Given the description of an element on the screen output the (x, y) to click on. 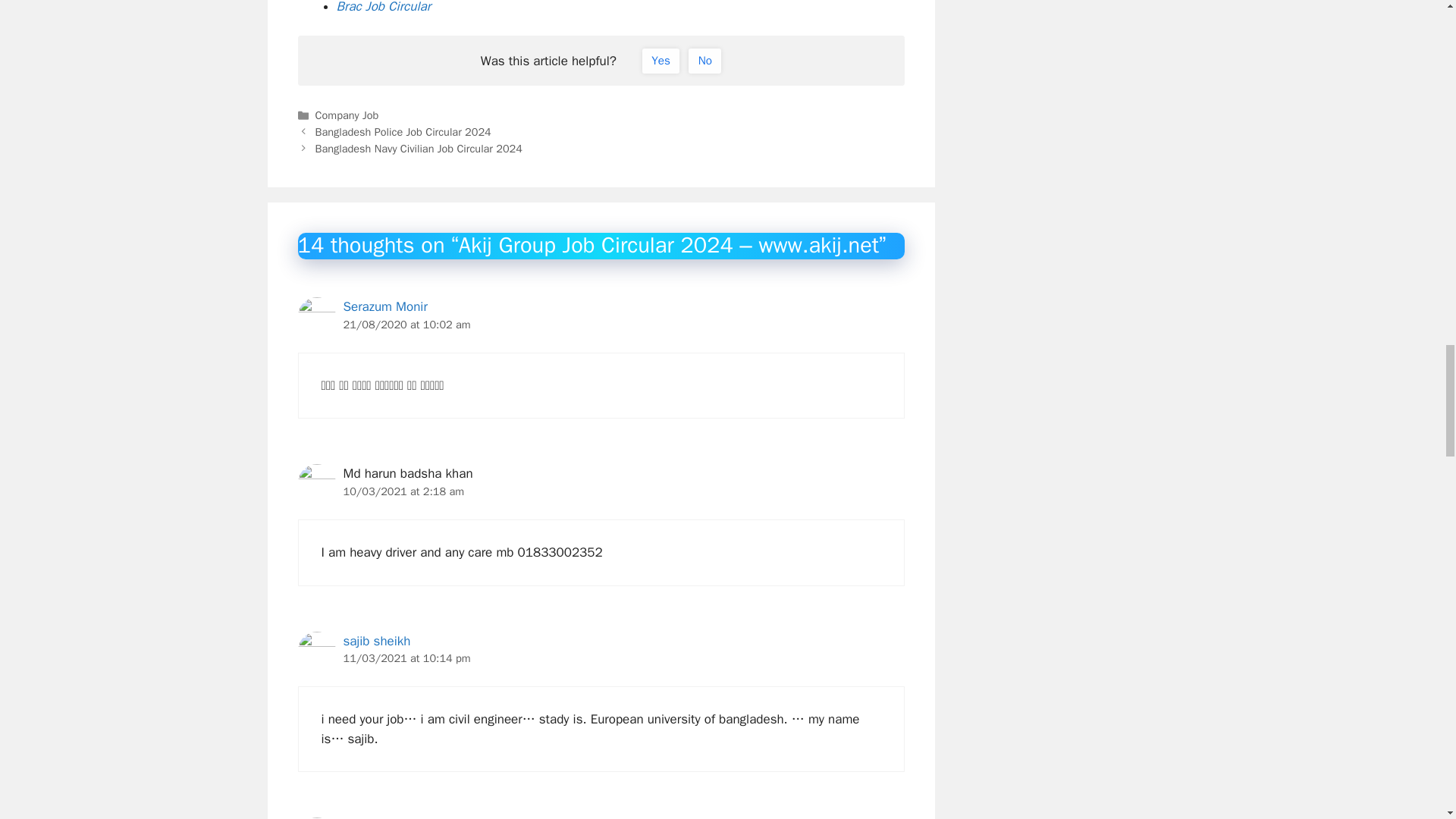
Serazum Monir (384, 306)
Bangladesh Police Job Circular 2024 (403, 131)
Bangladesh Navy Civilian Job Circular 2024 (418, 148)
Brac Job Circular (383, 7)
sajib sheikh (376, 640)
Company Job (346, 115)
